Given the description of an element on the screen output the (x, y) to click on. 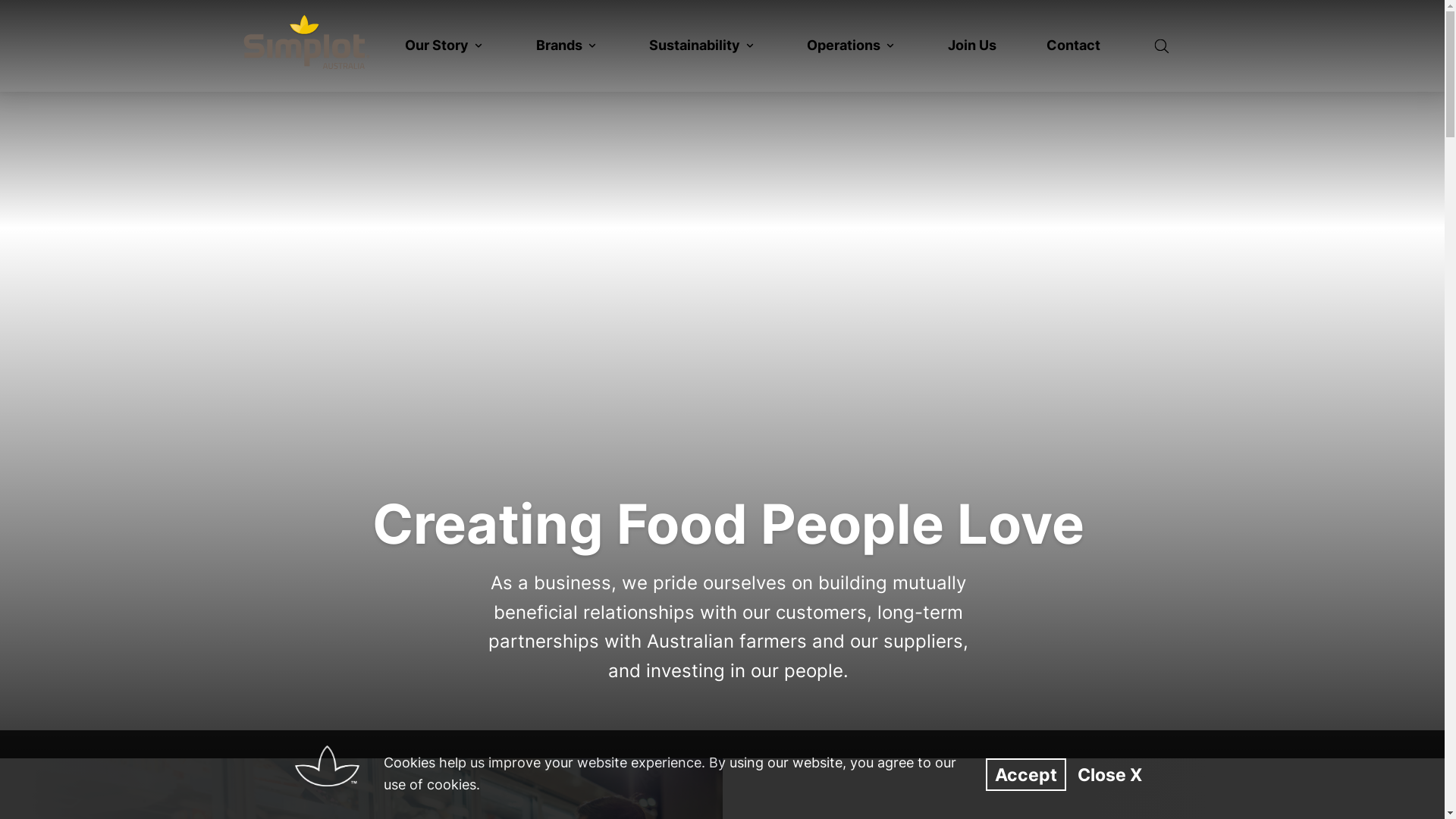
Join Us Element type: text (971, 45)
Logo Element type: hover (307, 42)
Accept Element type: text (1025, 774)
Operations Element type: text (851, 45)
Sustainability Element type: text (702, 45)
Search Element type: hover (1161, 46)
Our Story Element type: text (444, 45)
Brands Element type: text (567, 45)
Contact Element type: text (1073, 45)
Close X Element type: text (1109, 774)
